Given the description of an element on the screen output the (x, y) to click on. 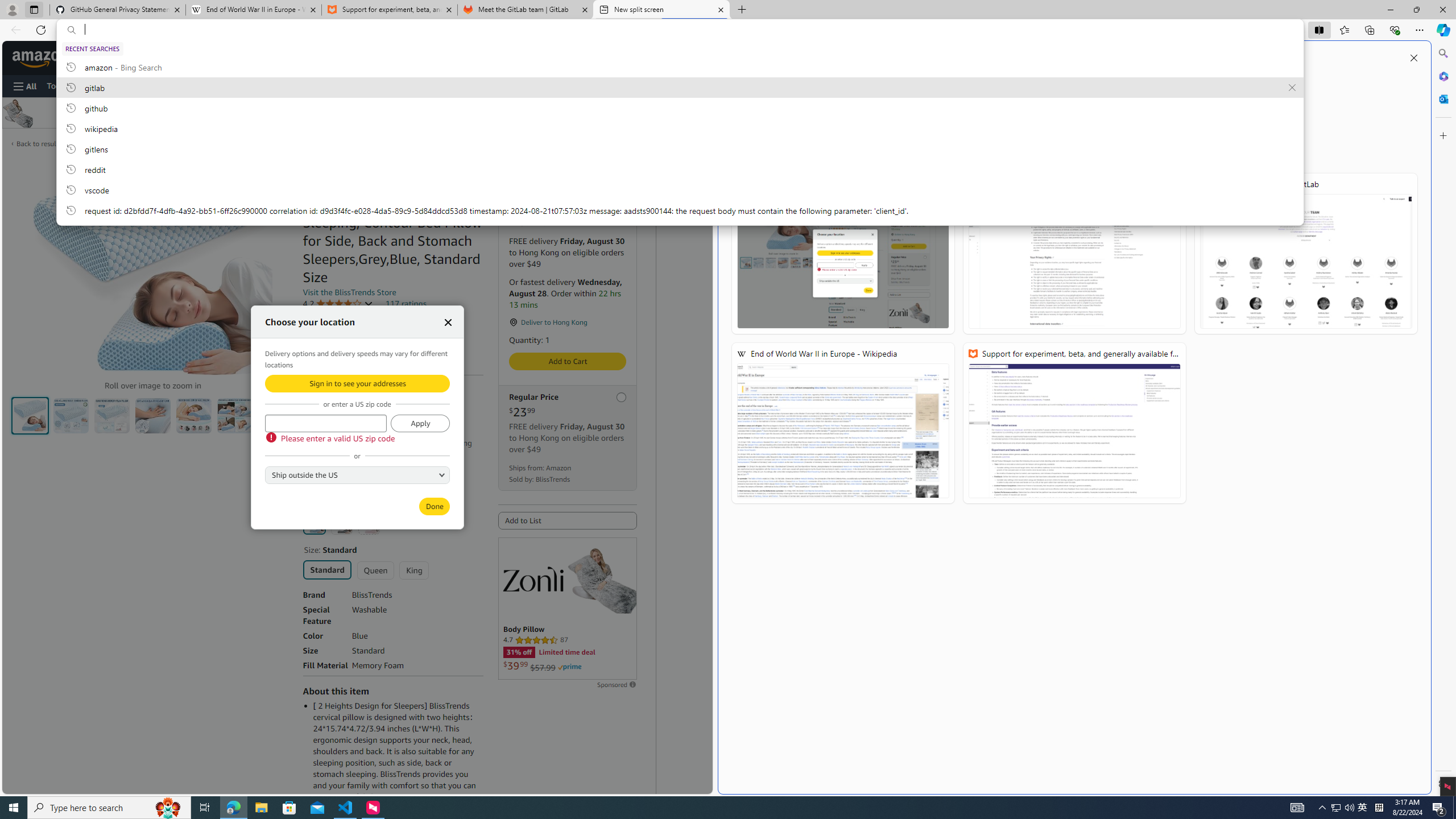
Done (434, 506)
vscode, recent searches from history (679, 189)
Share (277, 174)
Go (410, 57)
Remove suggestion (1291, 87)
Pink (369, 522)
Search icon (70, 29)
Apply (419, 423)
Logo (533, 578)
GitHub General Privacy Statement - GitHub Docs (1074, 253)
